Given the description of an element on the screen output the (x, y) to click on. 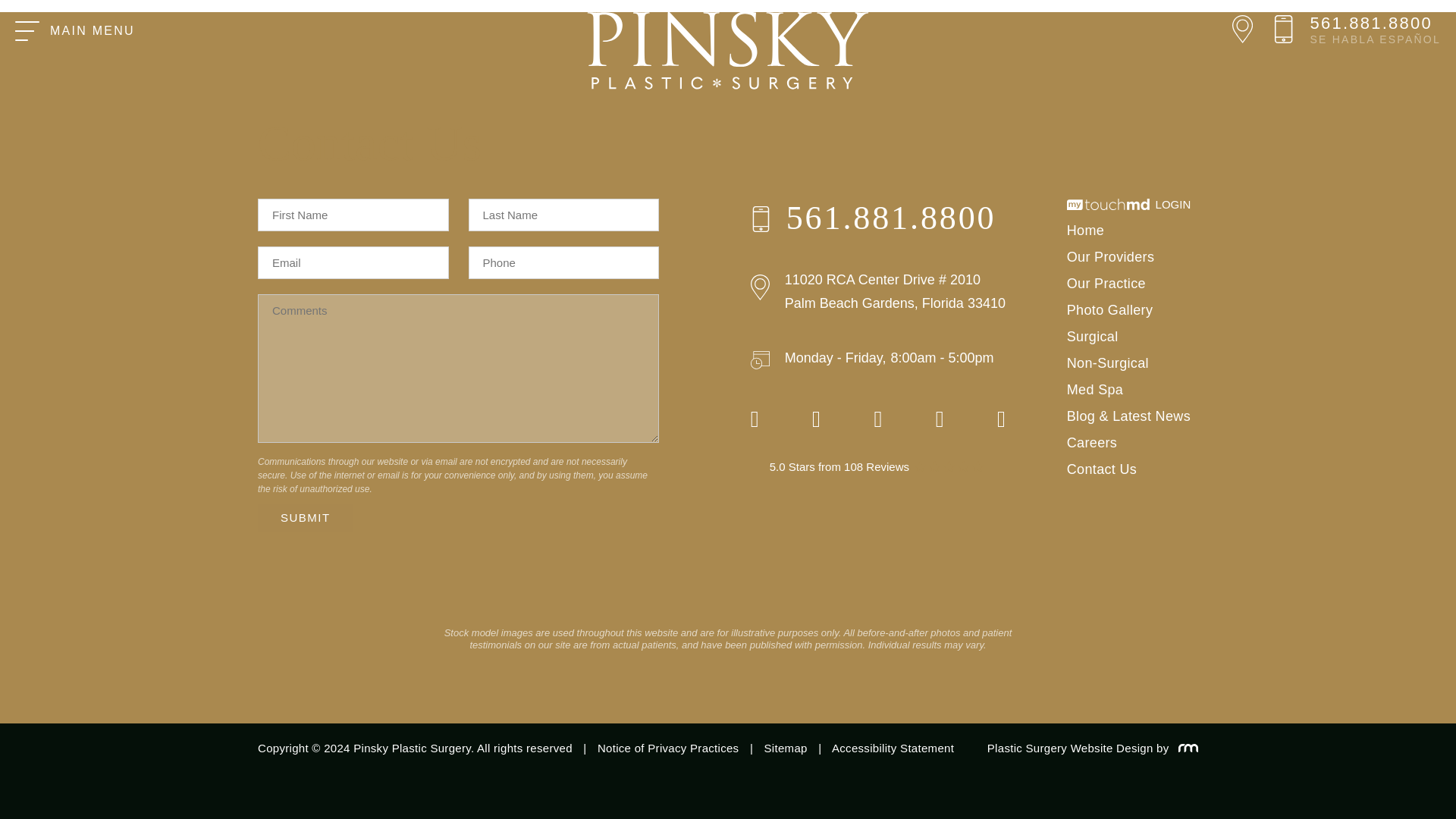
Sitemap (786, 748)
Submit (305, 517)
